Given the description of an element on the screen output the (x, y) to click on. 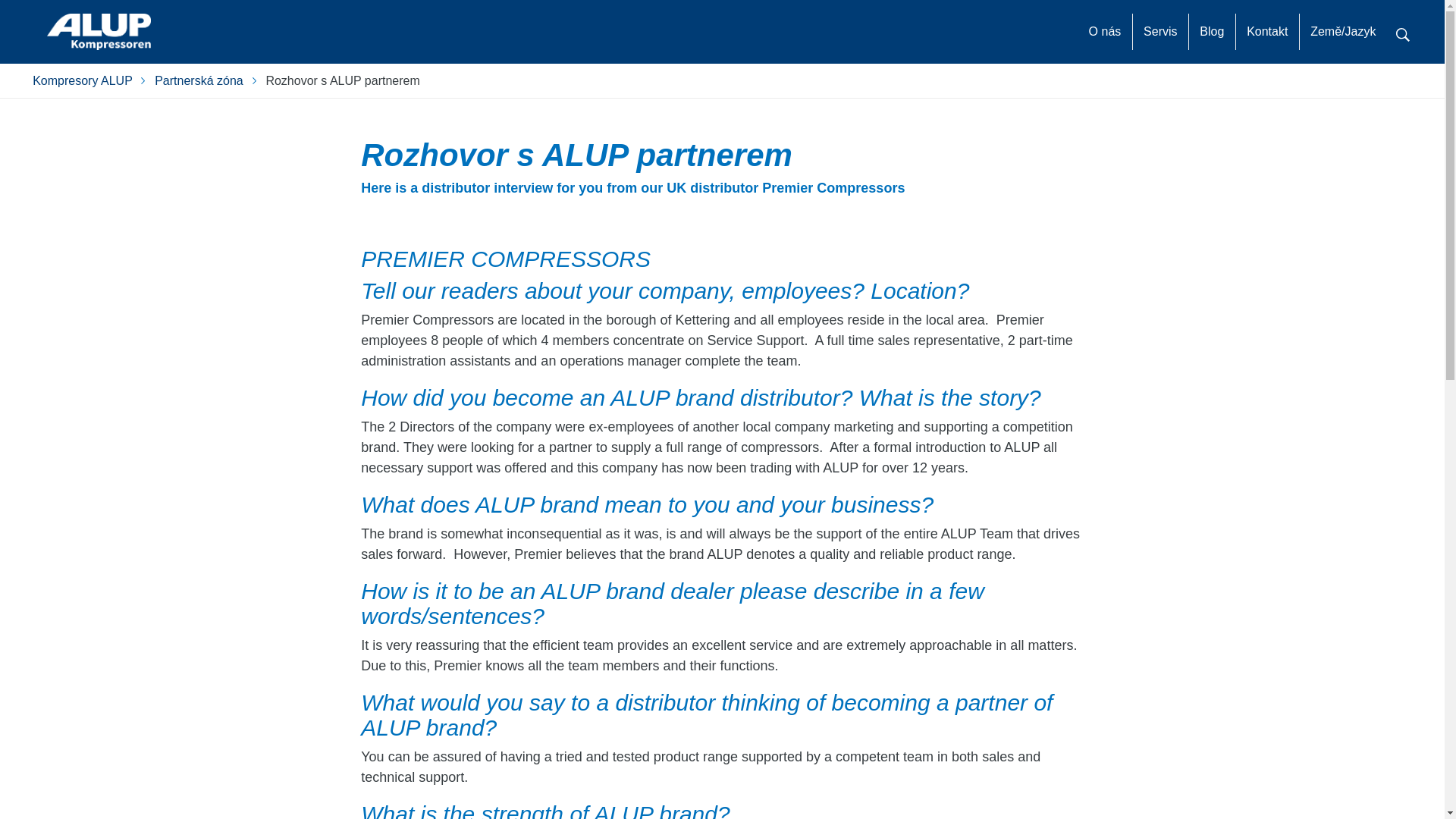
Search (1402, 32)
Servis (1160, 31)
Kontakt (1266, 31)
Blog (1211, 31)
